Given the description of an element on the screen output the (x, y) to click on. 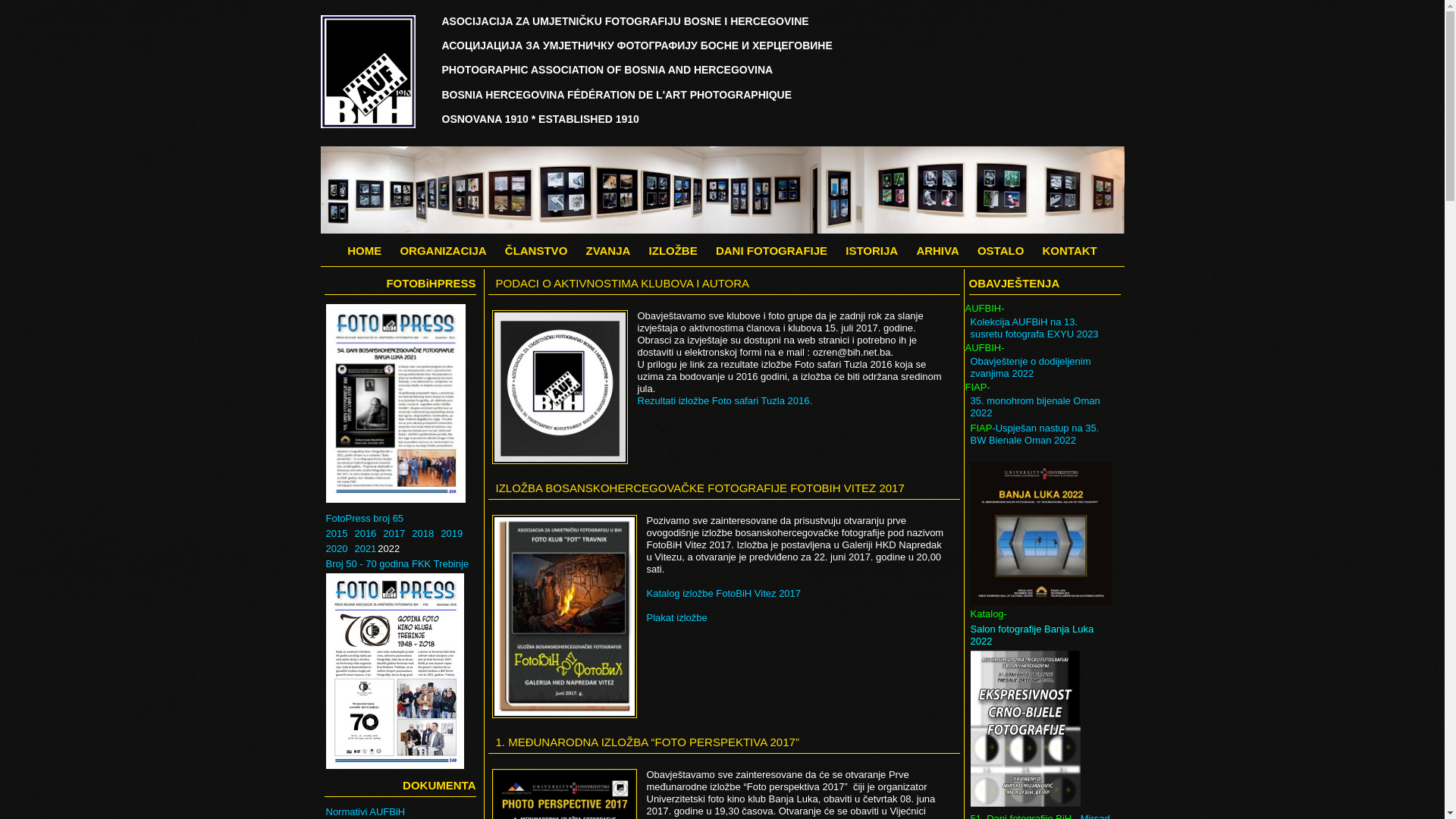
Katalog- Element type: text (1041, 540)
2019 Element type: text (451, 533)
FotoPress broj 65 Element type: text (402, 415)
2017 Element type: text (393, 533)
ARHIVA Element type: text (937, 250)
ZVANJA Element type: text (607, 250)
DANI FOTOGRAFIJE Element type: text (771, 250)
35. monohrom bijenale Oman 2022 Element type: text (1041, 406)
Salon fotografije Banja Luka 2022 Element type: text (1041, 635)
ORGANIZACIJA Element type: text (442, 250)
2021 Element type: text (364, 548)
2020 Element type: text (336, 548)
2015 Element type: text (336, 533)
HOME Element type: text (364, 250)
2016 Element type: text (364, 533)
ISTORIJA Element type: text (871, 250)
KONTAKT Element type: text (1068, 250)
OSTALO Element type: text (1000, 250)
Broj 50 - 70 godina FKK Trebinje Element type: text (402, 563)
PODACI O AKTIVNOSTIMA KLUBOVA I AUTORA Element type: text (622, 282)
Kolekcija AUFBiH na 13. susretu fotografa EXYU 2023 Element type: text (1041, 328)
2018 Element type: text (422, 533)
